Given the description of an element on the screen output the (x, y) to click on. 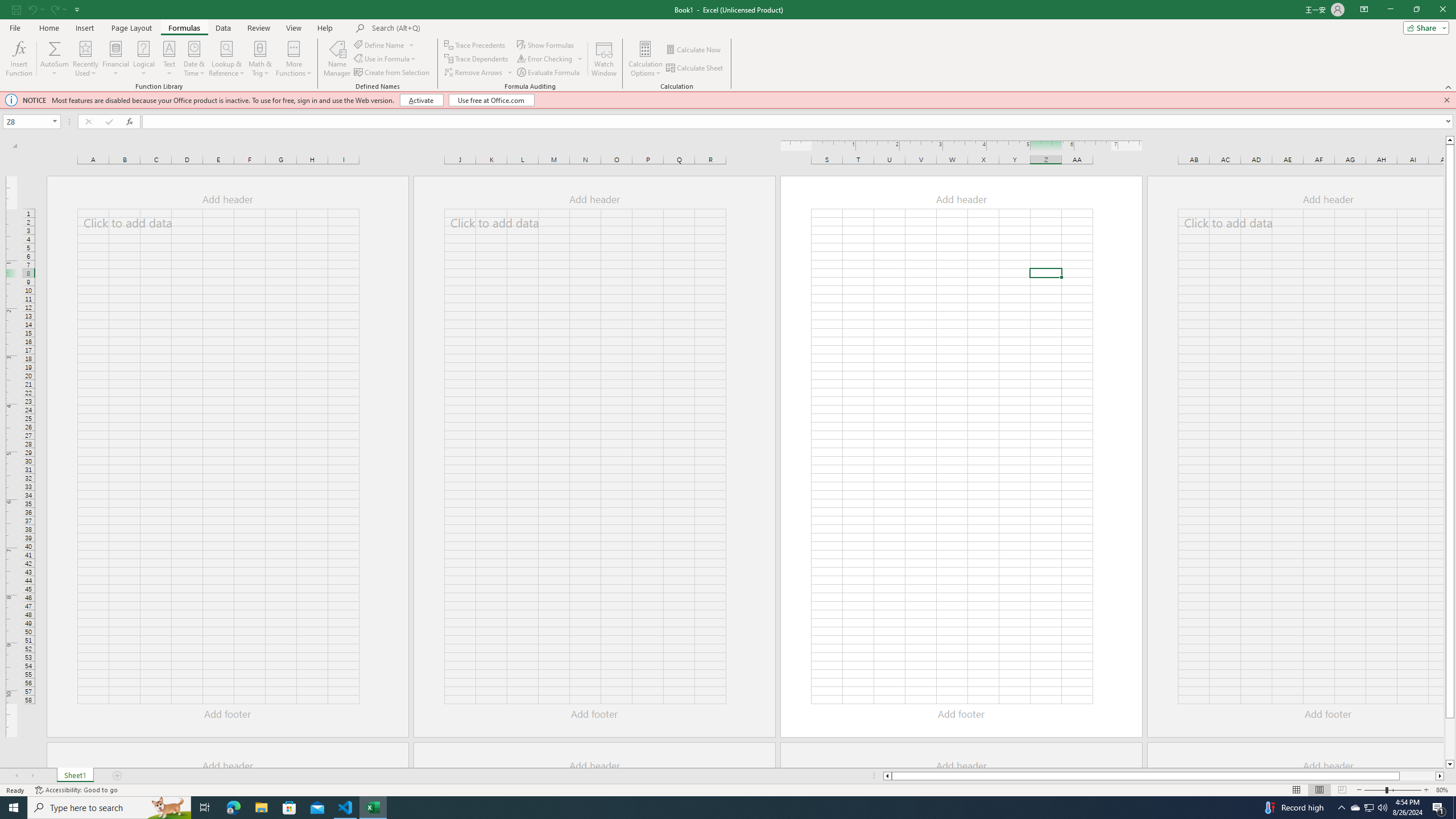
Use in Formula (385, 58)
Define Name (384, 44)
Financial (116, 58)
Calculation Options (645, 58)
Trace Precedents (475, 44)
Recently Used (85, 58)
Use free at Office.com (491, 100)
Math & Trig (260, 58)
Define Name... (379, 44)
Insert Function... (18, 58)
